Given the description of an element on the screen output the (x, y) to click on. 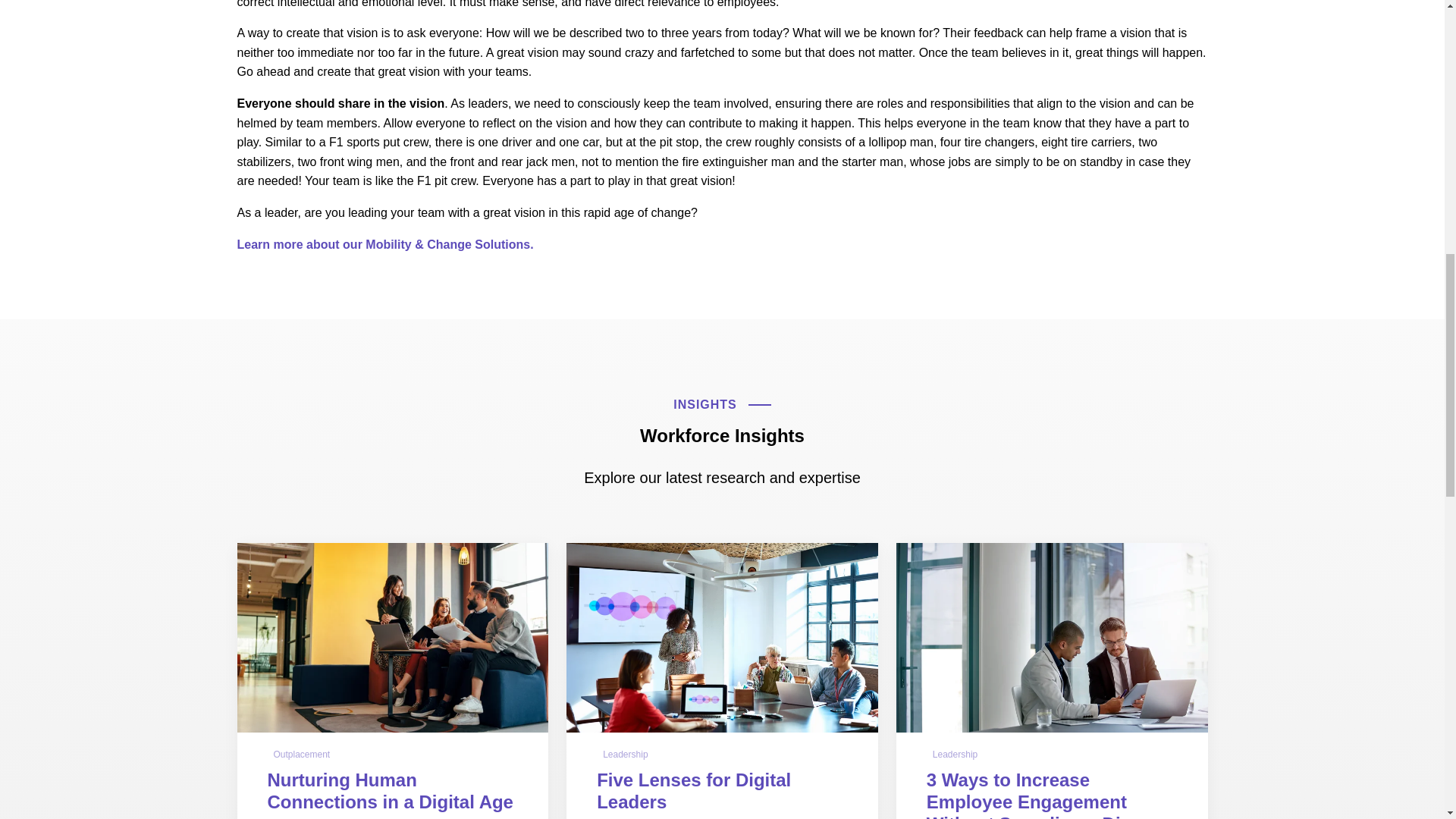
Five Lenses for Digital Leaders (693, 790)
Leadership (624, 754)
Leadership (955, 754)
Outplacement (301, 754)
Nurturing Human Connections in a Digital Age (389, 790)
